Given the description of an element on the screen output the (x, y) to click on. 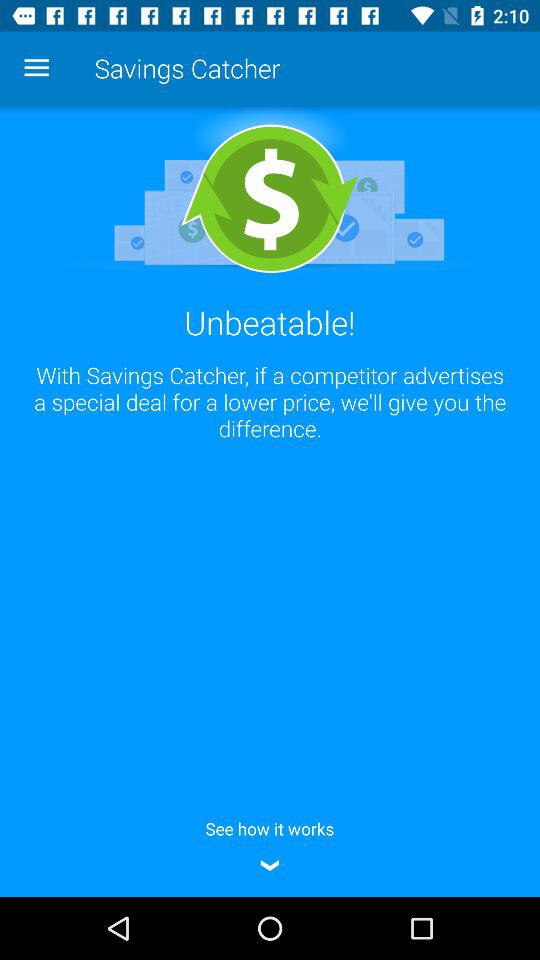
press icon at the top left corner (36, 68)
